Given the description of an element on the screen output the (x, y) to click on. 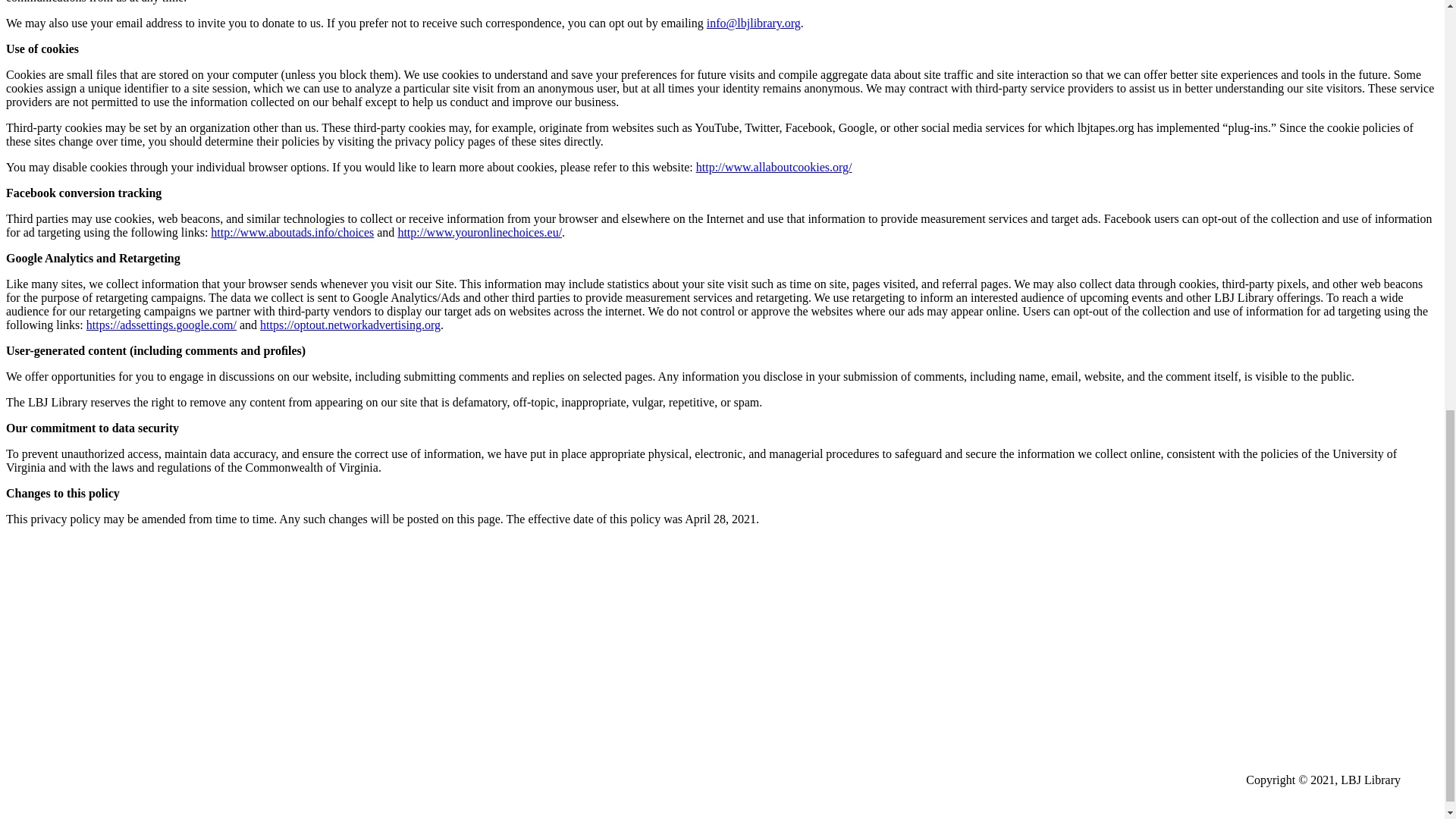
Privacy Policy (79, 608)
Contact Us (71, 582)
Press Inquiries (79, 634)
